Given the description of an element on the screen output the (x, y) to click on. 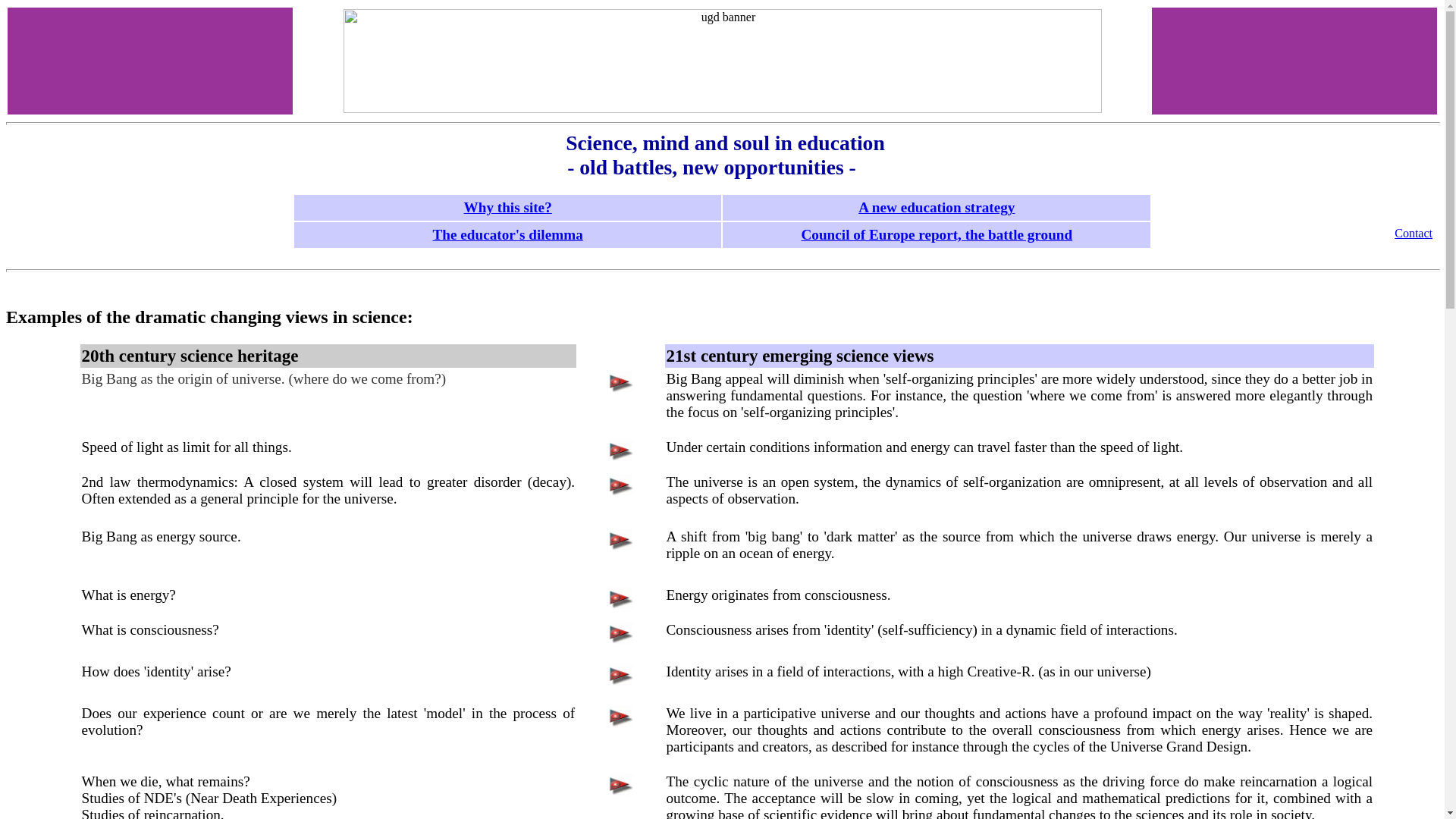
Contact (1413, 232)
A new education strategy (936, 207)
The educator's dilemma (507, 234)
Why this site? (507, 207)
Council of Europe report, the battle ground (935, 234)
